Given the description of an element on the screen output the (x, y) to click on. 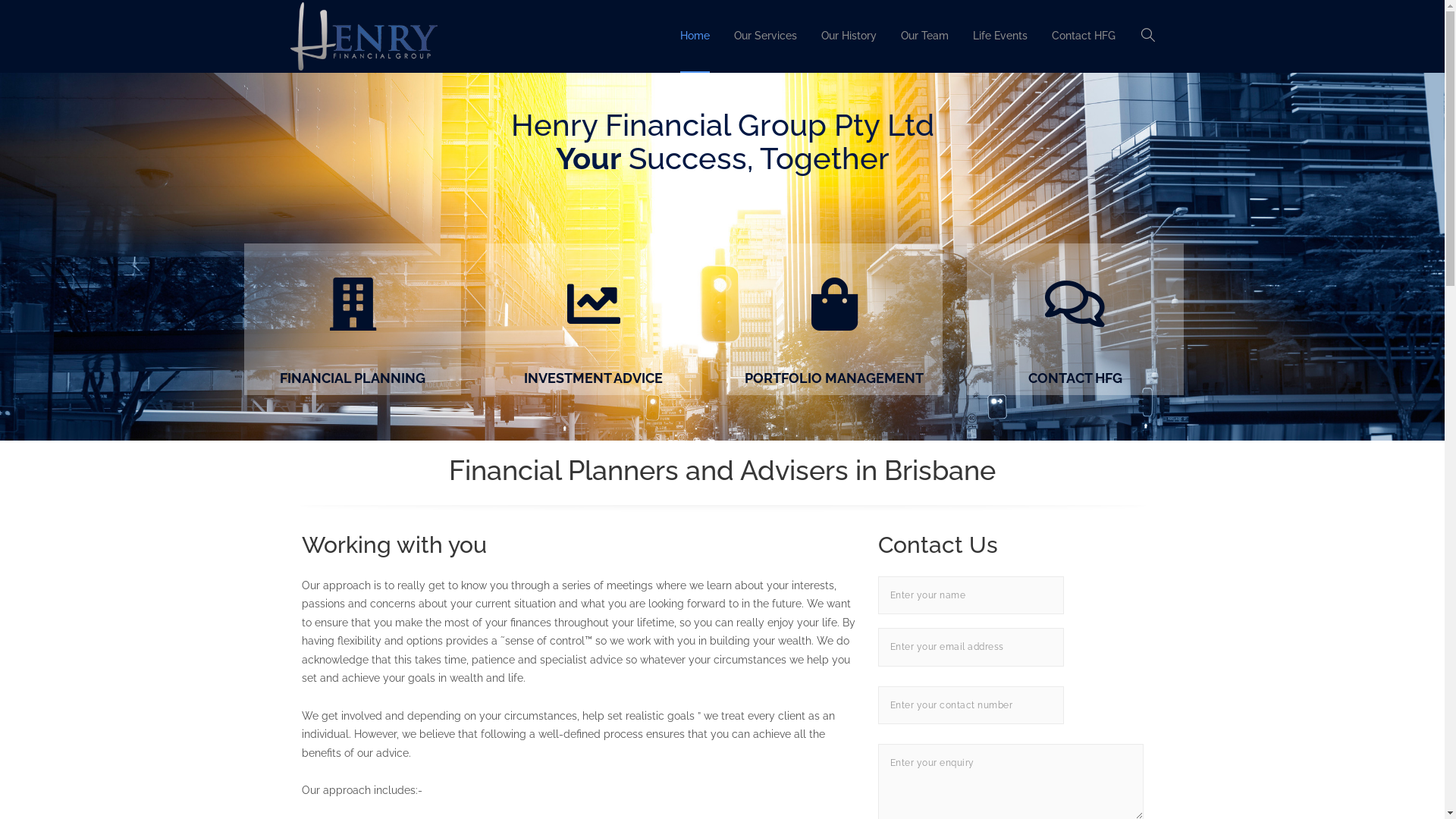
Home Element type: text (694, 36)
Life Events Element type: text (999, 36)
Contact HFG Element type: text (1082, 36)
Our Services Element type: text (765, 36)
Our Team Element type: text (924, 36)
Our History Element type: text (847, 36)
